Given the description of an element on the screen output the (x, y) to click on. 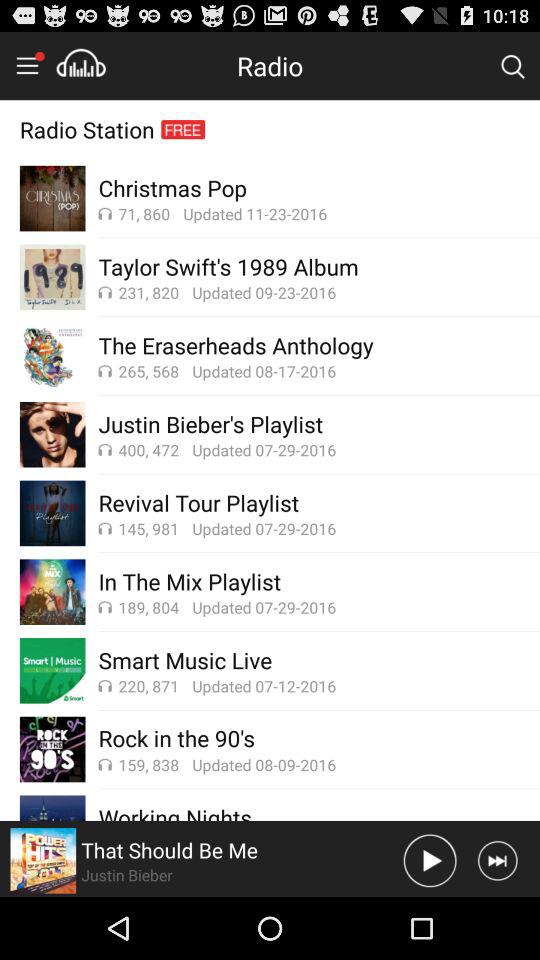
expand current song (43, 860)
